Given the description of an element on the screen output the (x, y) to click on. 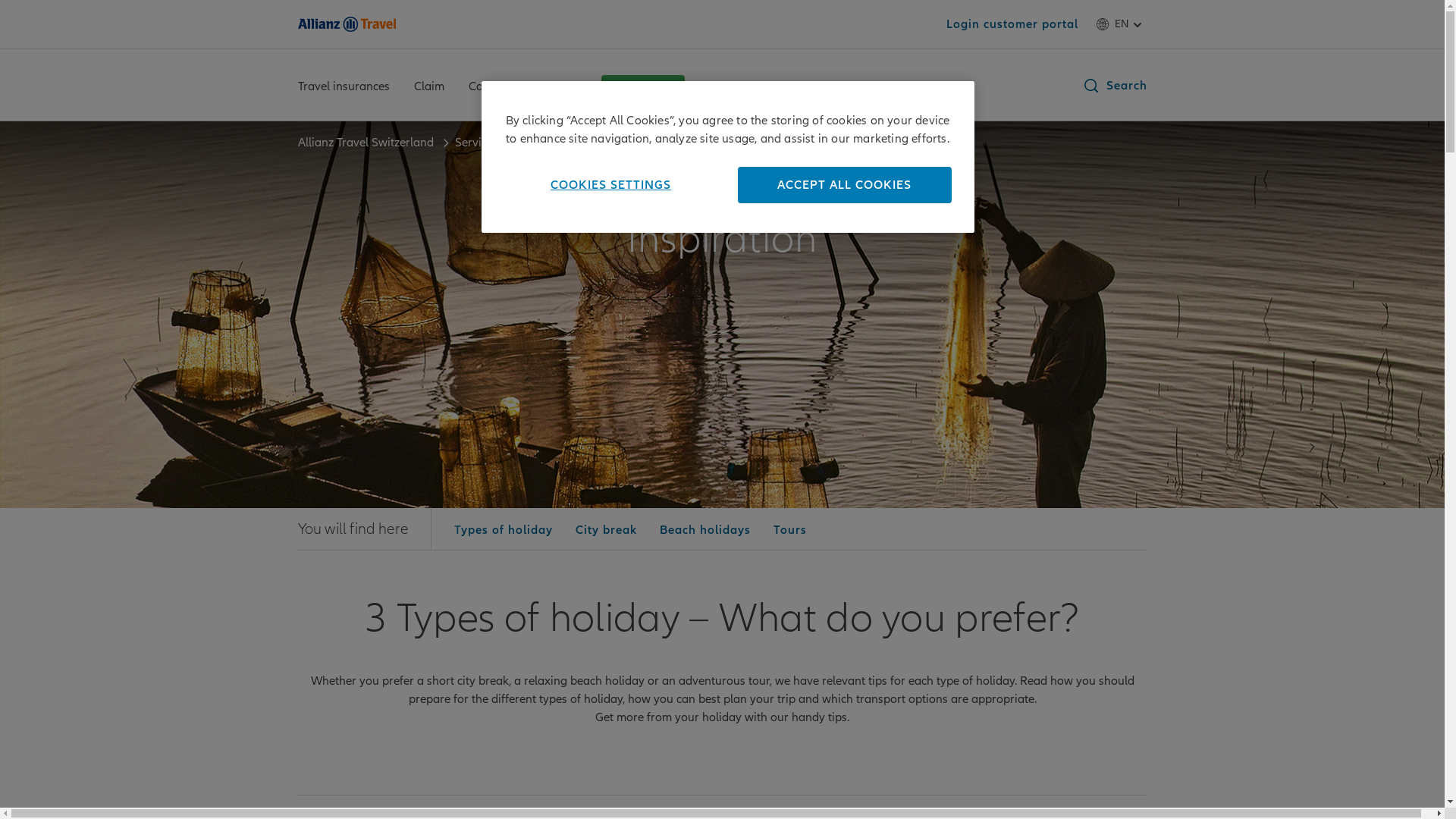
Insure now Element type: text (642, 87)
Allianz Travel Switzerland Element type: text (366, 142)
Claim Element type: text (429, 87)
City break Element type: text (606, 529)
Login customer portal Element type: text (1012, 24)
Search Element type: text (1113, 85)
Contact Element type: text (488, 87)
ACCEPT ALL COOKIES Element type: text (843, 184)
Types of holiday Element type: text (503, 529)
Services Element type: text (555, 87)
EN Element type: text (1121, 24)
Travel insurances Element type: text (343, 87)
Inspiration Element type: text (546, 142)
COOKIES SETTINGS Element type: text (613, 184)
Beach holidays Element type: text (704, 529)
Services Element type: text (478, 142)
Tours Element type: text (789, 529)
